Given the description of an element on the screen output the (x, y) to click on. 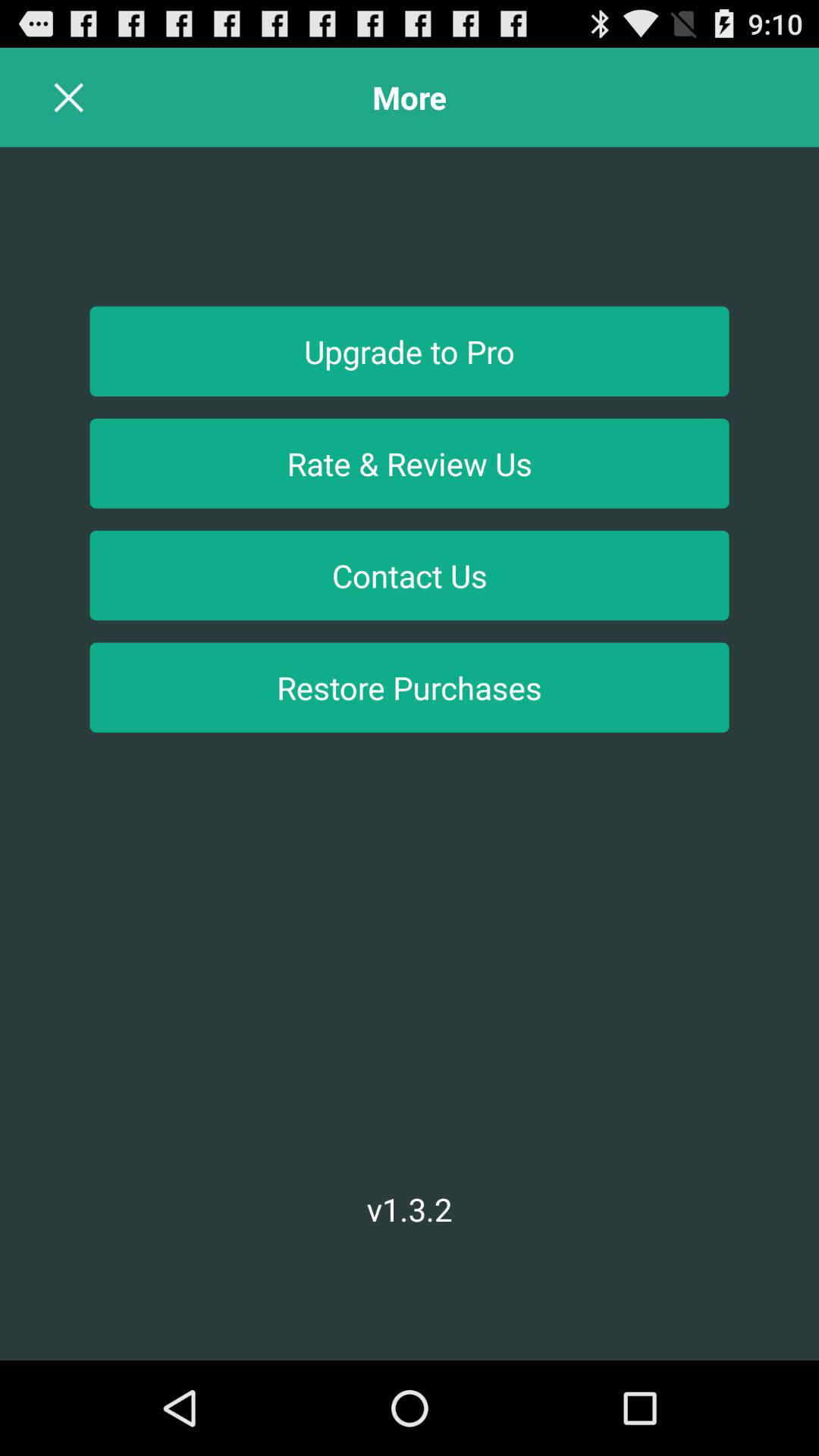
flip until the contact us (409, 575)
